Given the description of an element on the screen output the (x, y) to click on. 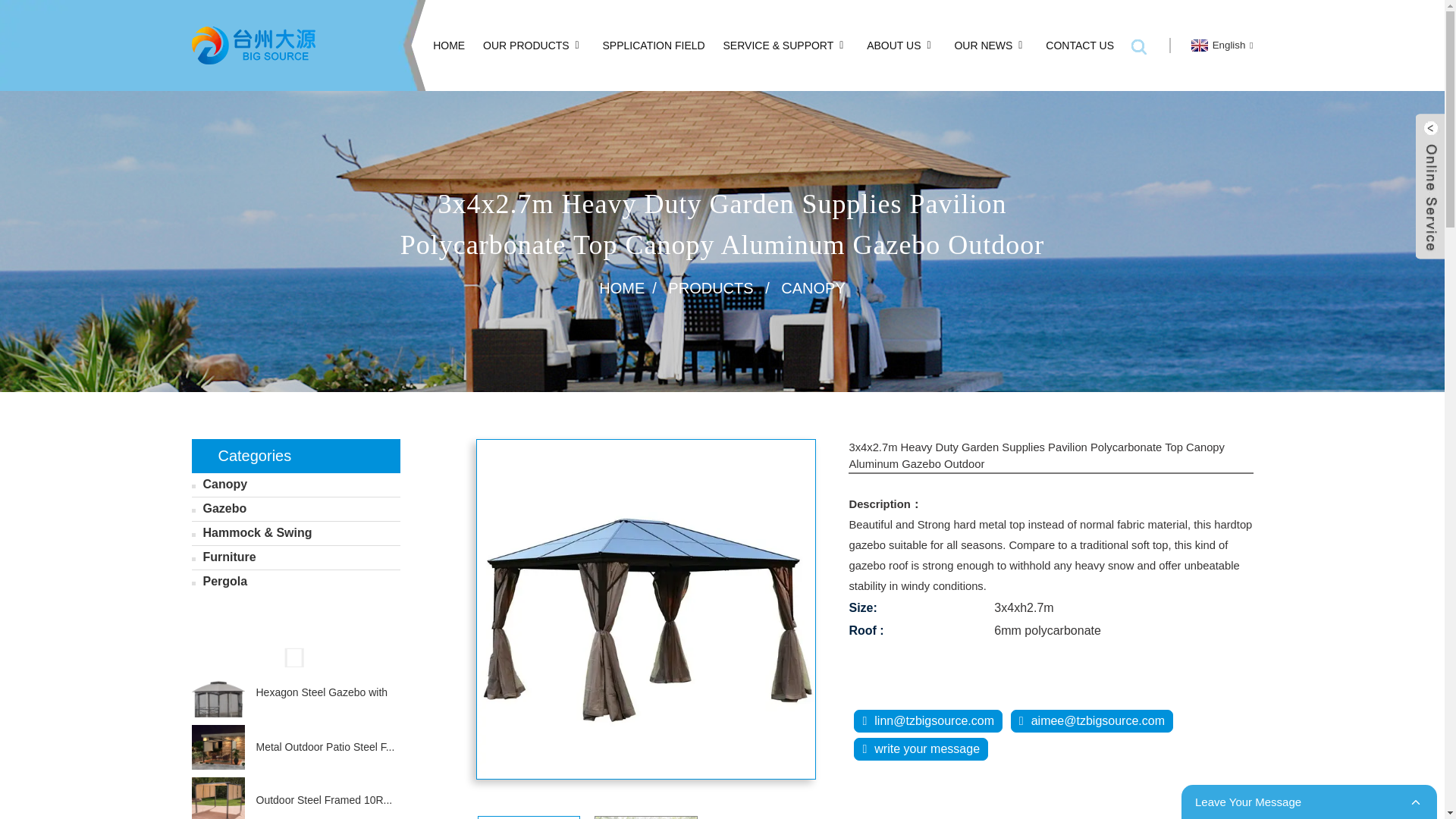
HOME (448, 45)
CONTACT US (1079, 45)
ABOUT US (901, 45)
English (1220, 44)
SPPLICATION FIELD (653, 45)
OUR NEWS (990, 45)
OUR PRODUCTS (534, 45)
